Given the description of an element on the screen output the (x, y) to click on. 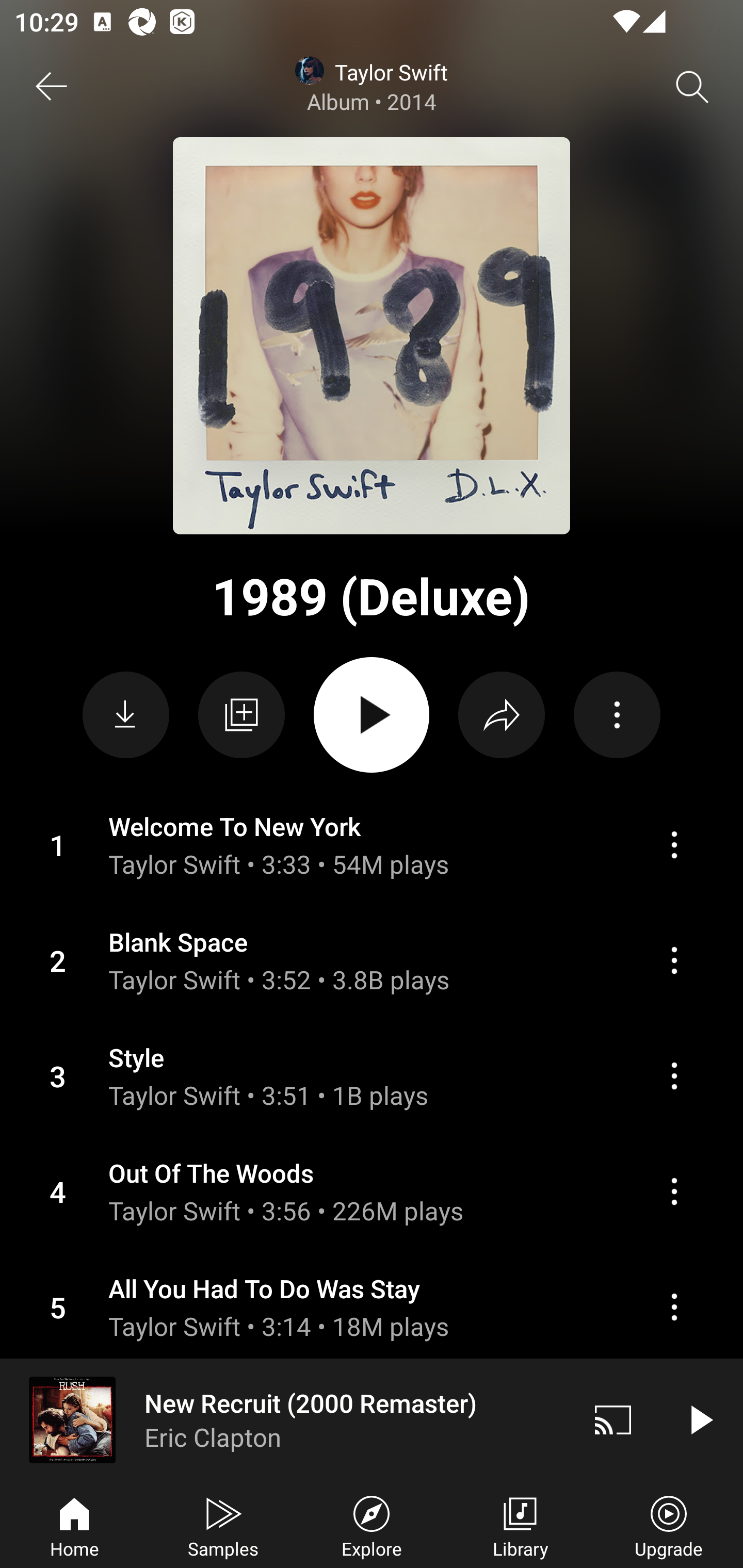
Back (50, 86)
Search (692, 86)
PLAY ALL (371, 714)
Download (125, 714)
Save to library (241, 714)
Share (501, 714)
Action menu (616, 714)
Action menu (371, 845)
Action menu (673, 844)
Action menu (371, 960)
Action menu (673, 960)
Action menu (371, 1075)
Action menu (673, 1076)
Action menu (371, 1191)
Action menu (673, 1191)
Action menu (371, 1306)
Action menu (673, 1306)
New Recruit (2000 Remaster) Eric Clapton (284, 1419)
Cast. Disconnected (612, 1419)
Play video (699, 1419)
Home (74, 1524)
Samples (222, 1524)
Explore (371, 1524)
Library (519, 1524)
Upgrade (668, 1524)
